Given the description of an element on the screen output the (x, y) to click on. 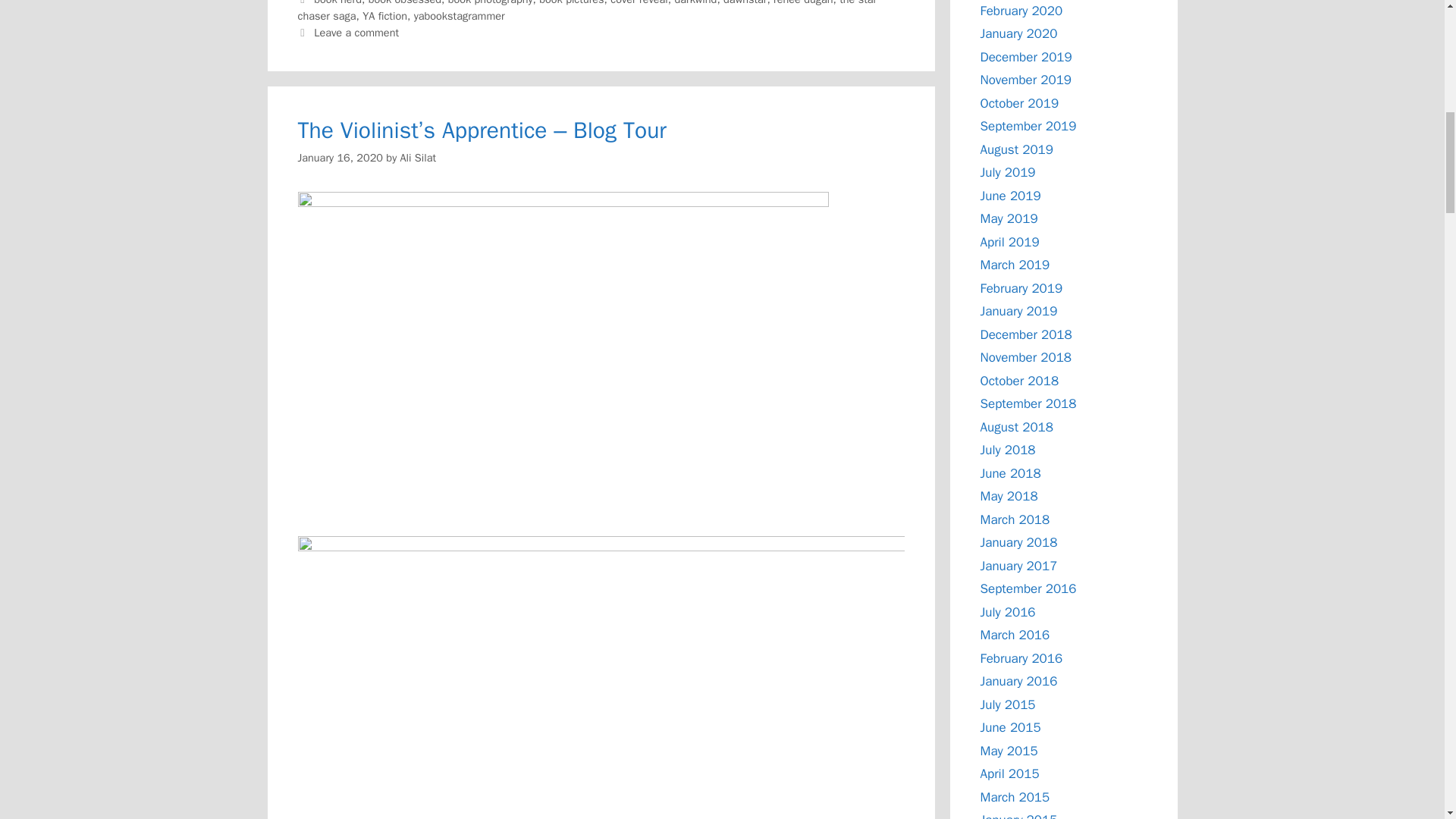
YA fiction (384, 15)
10:36 pm (339, 157)
yabookstagrammer (459, 15)
book pictures (571, 2)
renee dugan (802, 2)
dawnstar (745, 2)
book nerd (337, 2)
book obsessed (404, 2)
the star chaser saga (586, 11)
January 16, 2020 (339, 157)
